Given the description of an element on the screen output the (x, y) to click on. 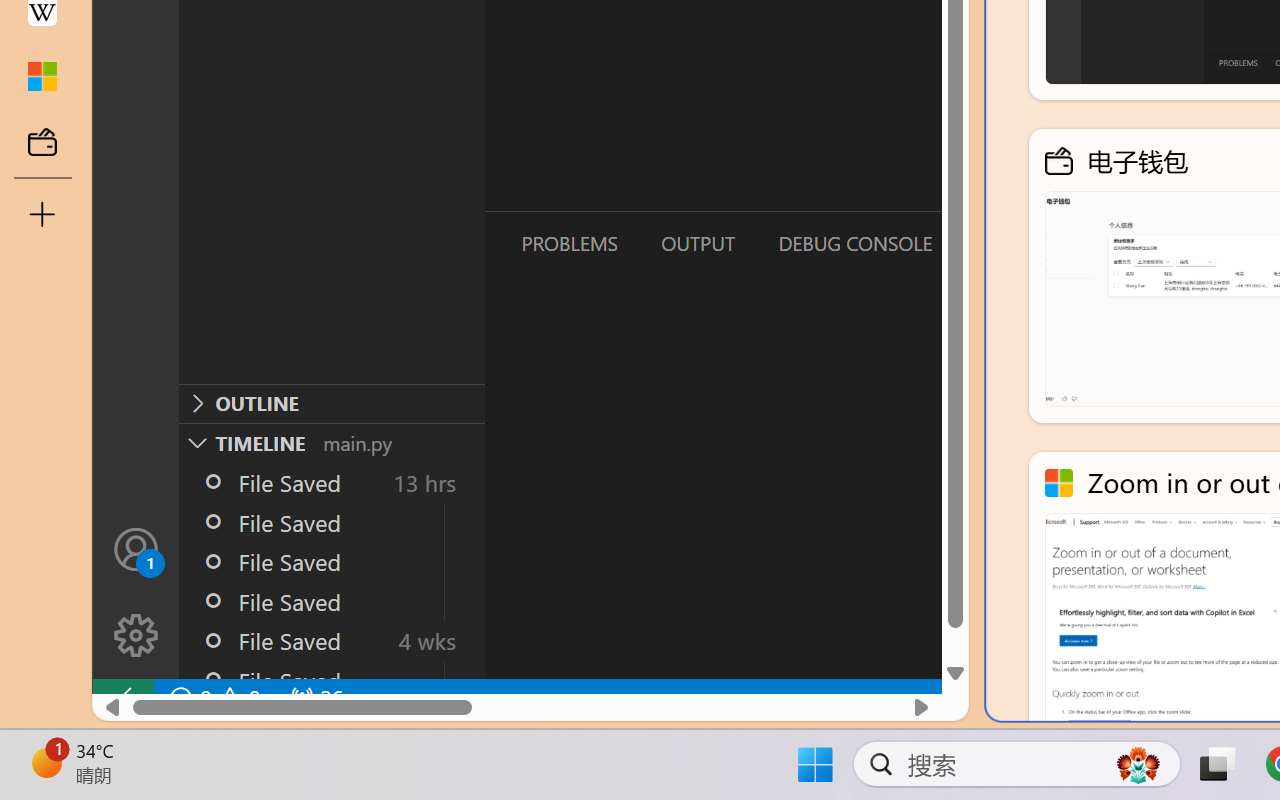
Accessibility Checker Accessibility: Investigate (395, 743)
Spell Check No Errors (95, 743)
